Given the description of an element on the screen output the (x, y) to click on. 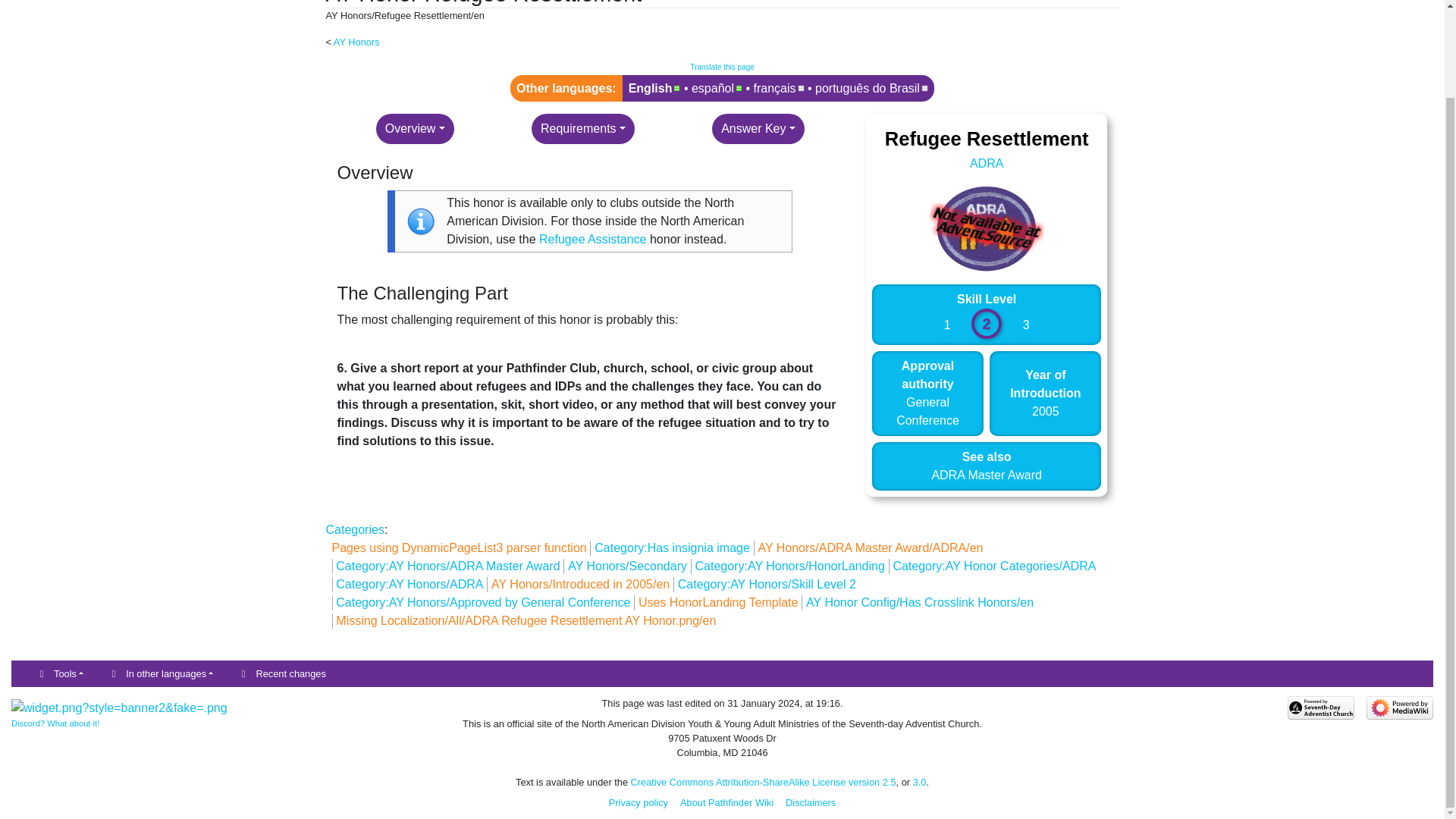
AY Honors (356, 41)
English (654, 88)
Translate this page (722, 67)
Special:Translate (722, 67)
